Given the description of an element on the screen output the (x, y) to click on. 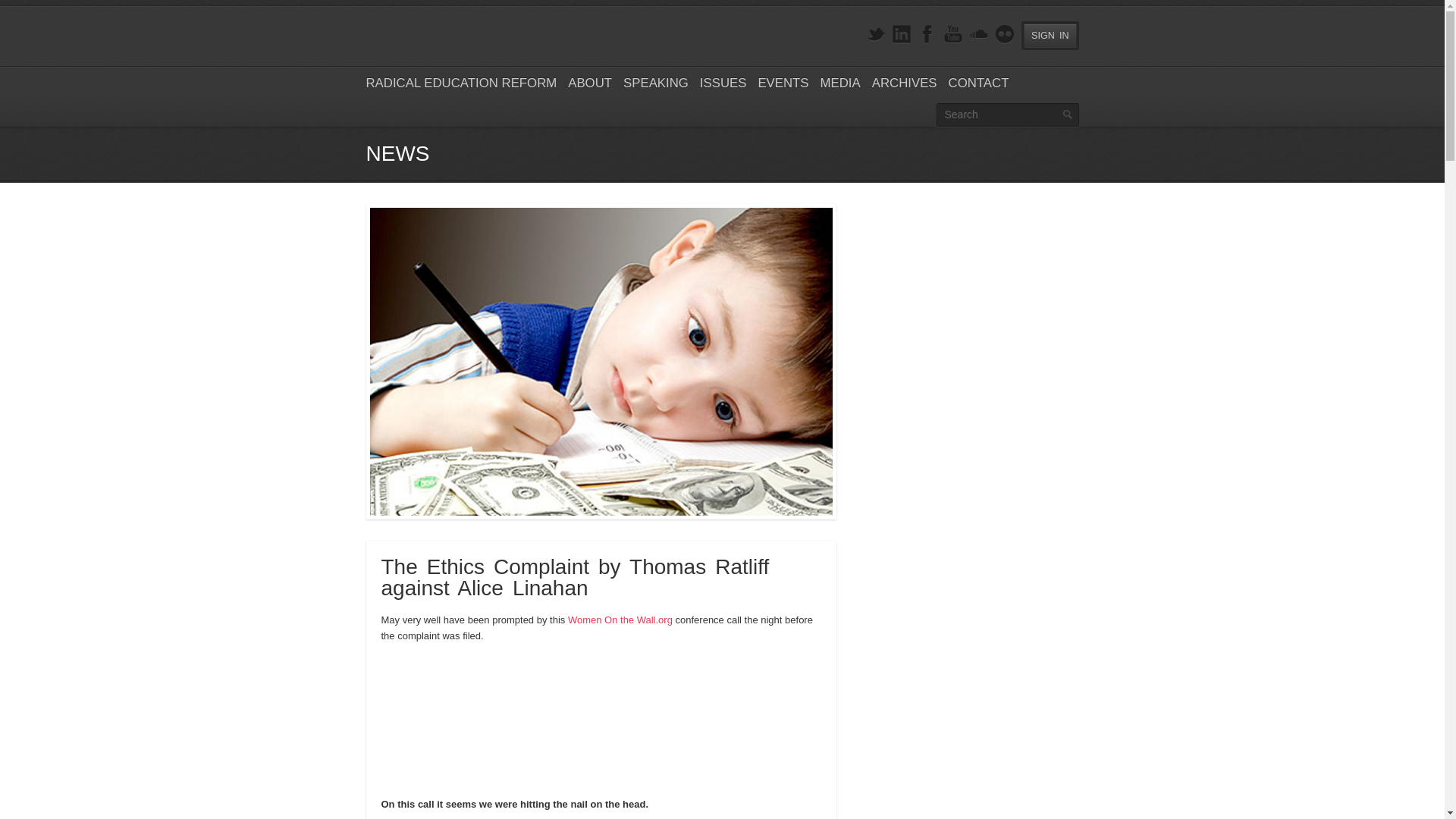
Search (1007, 114)
Women On the Wall (619, 619)
Women On the Wall.org (619, 619)
CONTACT (979, 83)
SIGN IN (1049, 35)
MEDIA (840, 83)
SoundCloud (978, 34)
EVENTS (782, 83)
Twitter (875, 34)
YouTube (952, 34)
LinkedIn (901, 34)
ABOUT (589, 83)
RADICAL EDUCATION REFORM (460, 83)
Flickr (1004, 34)
Facebook (927, 34)
